Given the description of an element on the screen output the (x, y) to click on. 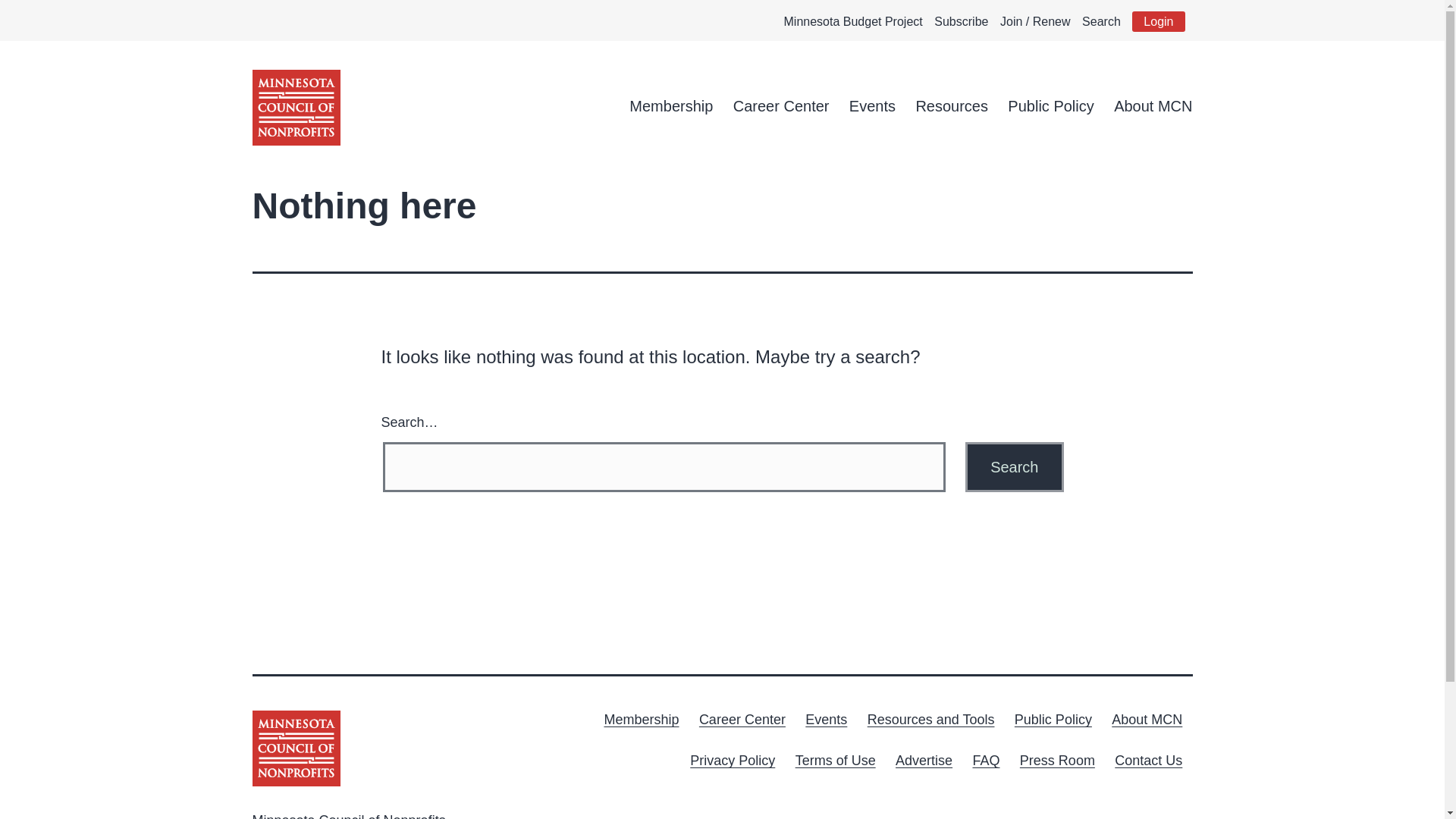
Login (1158, 21)
Membership (671, 106)
Subscribe (961, 21)
Events (872, 106)
Search (1101, 21)
Minnesota Budget Project (853, 21)
Search (1013, 467)
Search (1013, 467)
Resources (951, 106)
Career Center (781, 106)
